Given the description of an element on the screen output the (x, y) to click on. 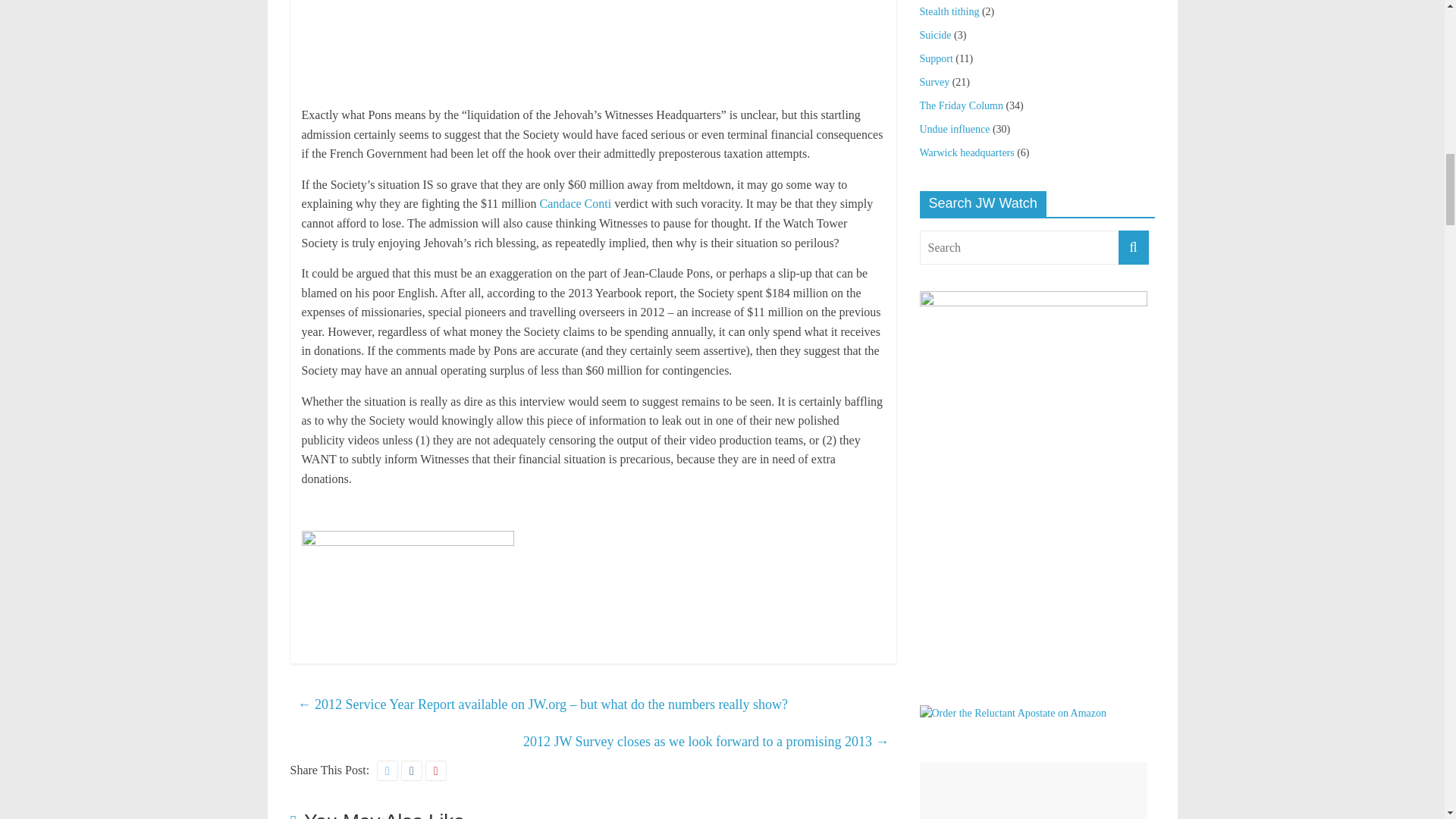
John Cedars signature logo (407, 587)
